Given the description of an element on the screen output the (x, y) to click on. 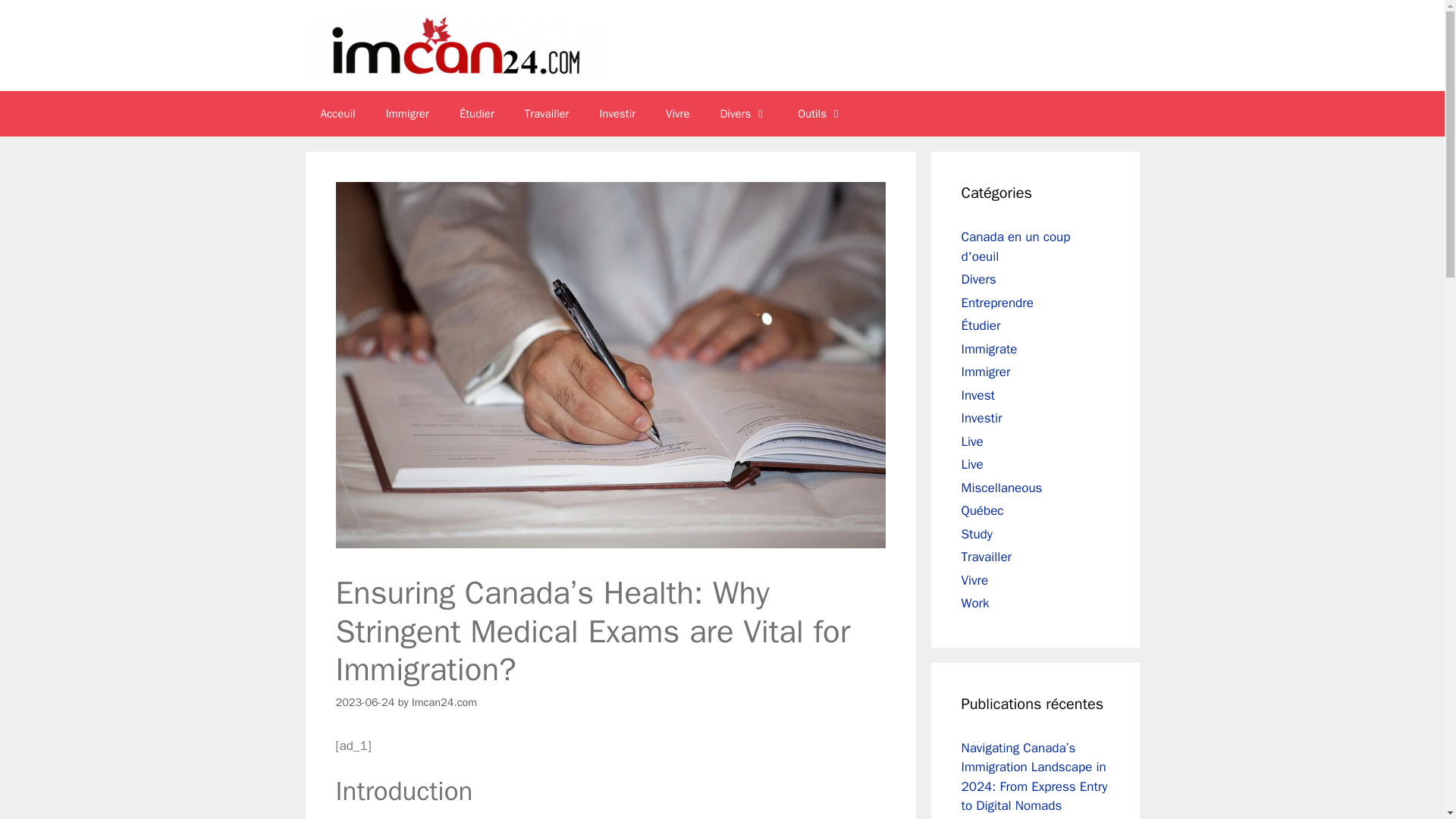
Study (976, 534)
Work (975, 602)
Divers (977, 279)
Acceuil (336, 113)
Investir (981, 417)
Live (972, 464)
Outils (821, 113)
Miscellaneous (1001, 487)
Immigrer (407, 113)
Entreprendre (996, 302)
Vivre (974, 579)
Investir (616, 113)
Vivre (677, 113)
Live (972, 441)
Travailler (547, 113)
